Given the description of an element on the screen output the (x, y) to click on. 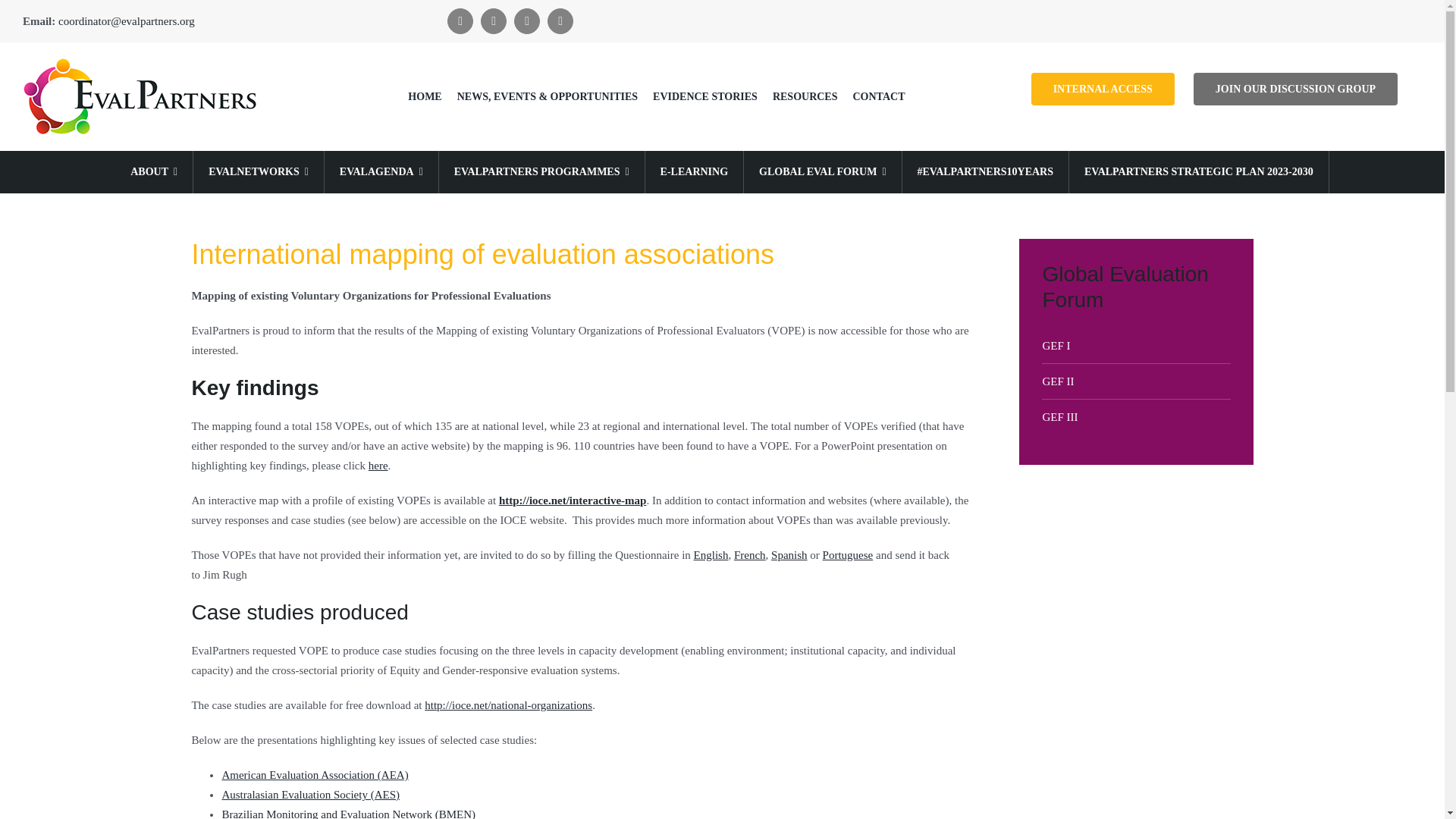
ABOUT (154, 171)
Twitter (493, 21)
Facebook (459, 21)
YouTube (560, 21)
RESOURCES (805, 96)
EVALNETWORKS (258, 171)
CONTACT (877, 96)
LinkedIn (526, 21)
EVALAGENDA (381, 171)
EVIDENCE STORIES (704, 96)
